Given the description of an element on the screen output the (x, y) to click on. 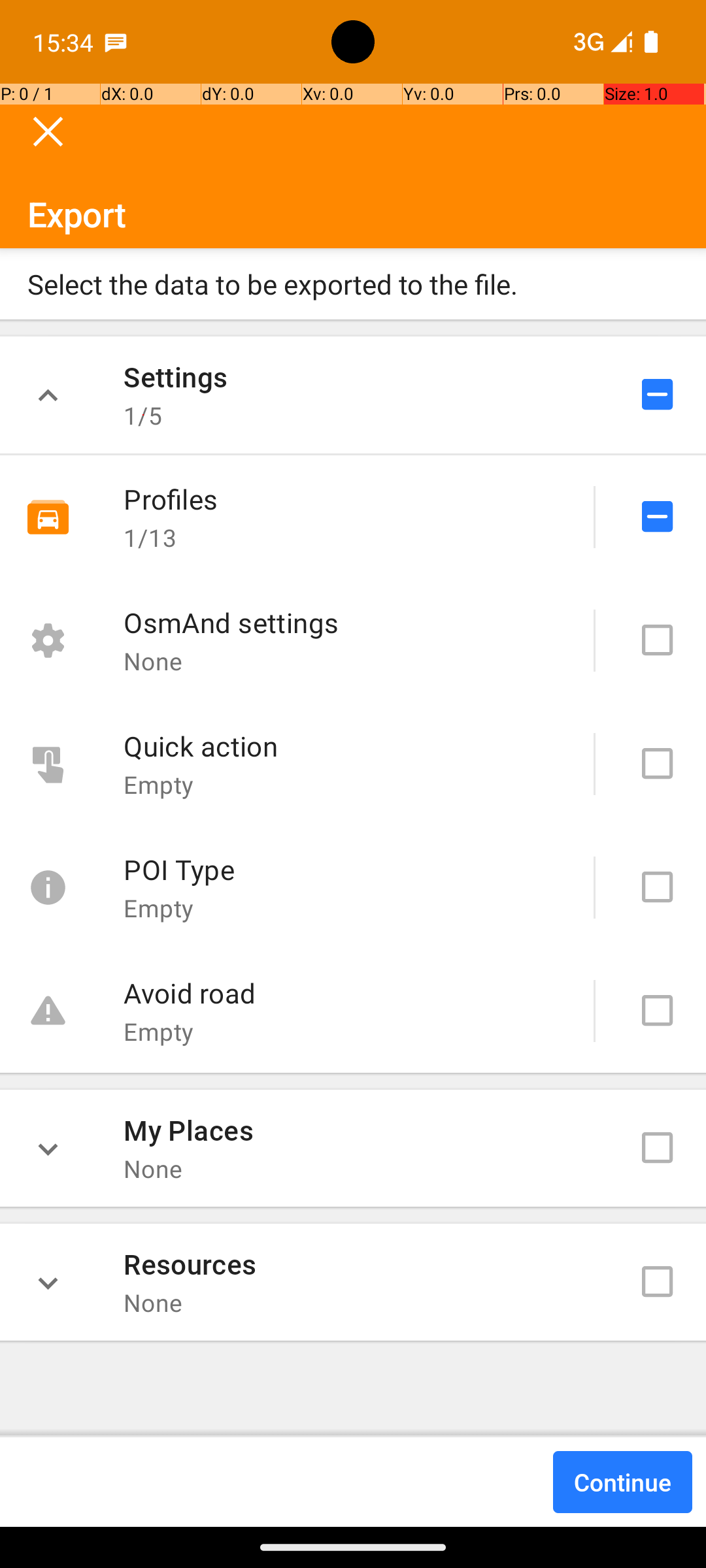
Map Element type: android.view.View (353, 763)
Export Element type: android.widget.FrameLayout (353, 165)
Continue Element type: android.widget.TextView (622, 1482)
Select the data to be exported to the file. Element type: android.widget.TextView (353, 283)
Expanded list Element type: android.widget.ImageView (47, 394)
1/5 Element type: android.widget.TextView (142, 414)
Profiles Element type: android.widget.TextView (170, 498)
1/13 Element type: android.widget.TextView (149, 537)
OsmAnd settings Element type: android.widget.TextView (231, 621)
Quick action Element type: android.widget.TextView (200, 745)
Empty Element type: android.widget.TextView (158, 783)
POI Type Element type: android.widget.TextView (178, 868)
Avoid road Element type: android.widget.TextView (189, 992)
Collapsed list Element type: android.widget.ImageView (47, 1147)
My Places Element type: android.widget.TextView (188, 1129)
Resources Element type: android.widget.TextView (189, 1263)
